Given the description of an element on the screen output the (x, y) to click on. 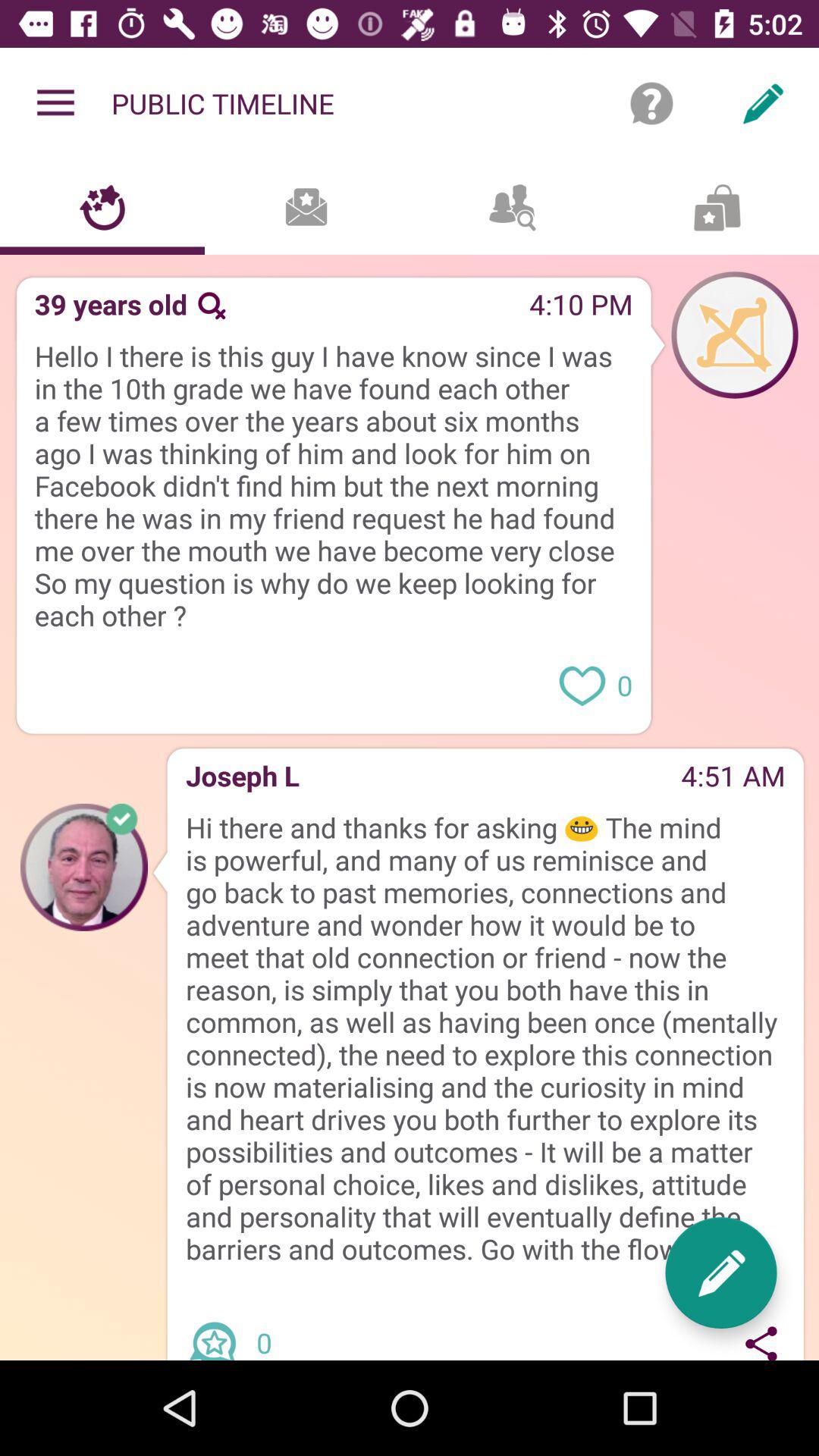
edit (720, 1272)
